Given the description of an element on the screen output the (x, y) to click on. 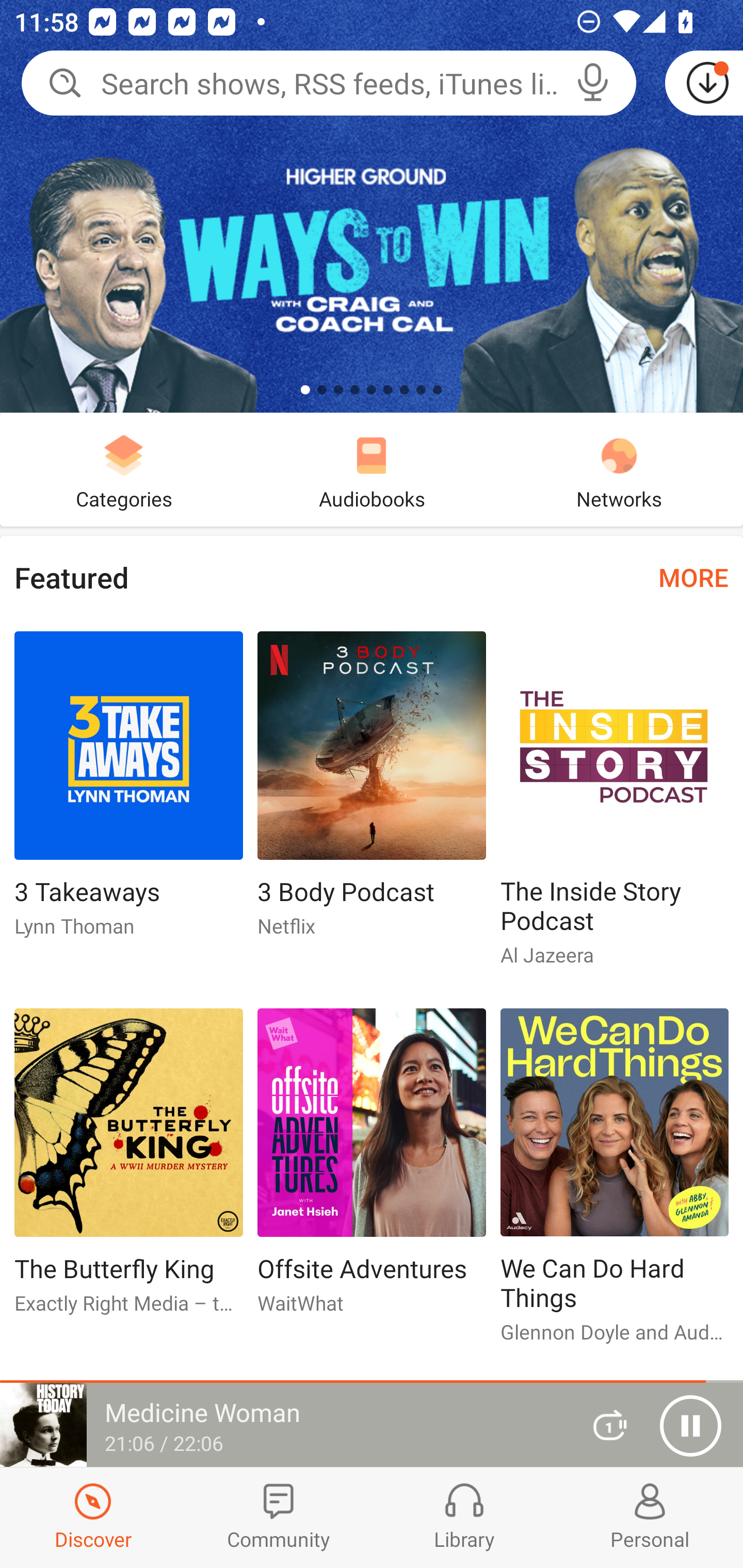
Ways To Win (371, 206)
Categories (123, 469)
Audiobooks (371, 469)
Networks (619, 469)
MORE (693, 576)
3 Takeaways 3 Takeaways Lynn Thoman (128, 792)
3 Body Podcast 3 Body Podcast Netflix (371, 792)
Offsite Adventures Offsite Adventures WaitWhat (371, 1169)
Medicine Woman 21:06 / 22:06 (283, 1424)
Pause (690, 1425)
Discover (92, 1517)
Community (278, 1517)
Library (464, 1517)
Profiles and Settings Personal (650, 1517)
